Given the description of an element on the screen output the (x, y) to click on. 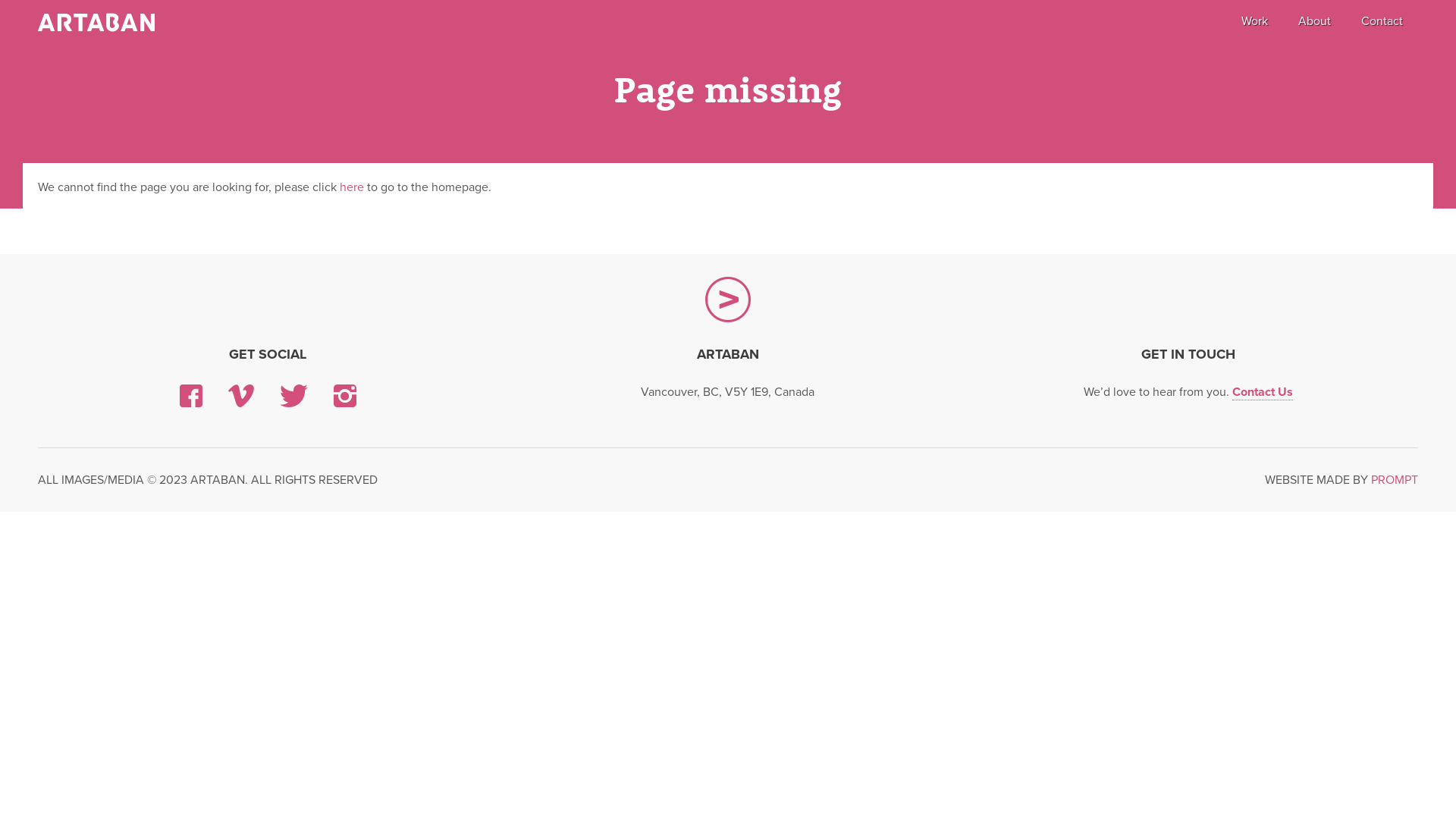
here Element type: text (351, 186)
Instagram Element type: text (344, 395)
Facebook Element type: text (190, 395)
PROMPT Element type: text (1394, 479)
Work Element type: text (1254, 21)
Vimeo Element type: text (241, 395)
Twitter Element type: text (293, 395)
About Element type: text (1314, 21)
Contact Element type: text (1382, 21)
Artaban Element type: text (95, 22)
Contact Us Element type: text (1262, 392)
